Given the description of an element on the screen output the (x, y) to click on. 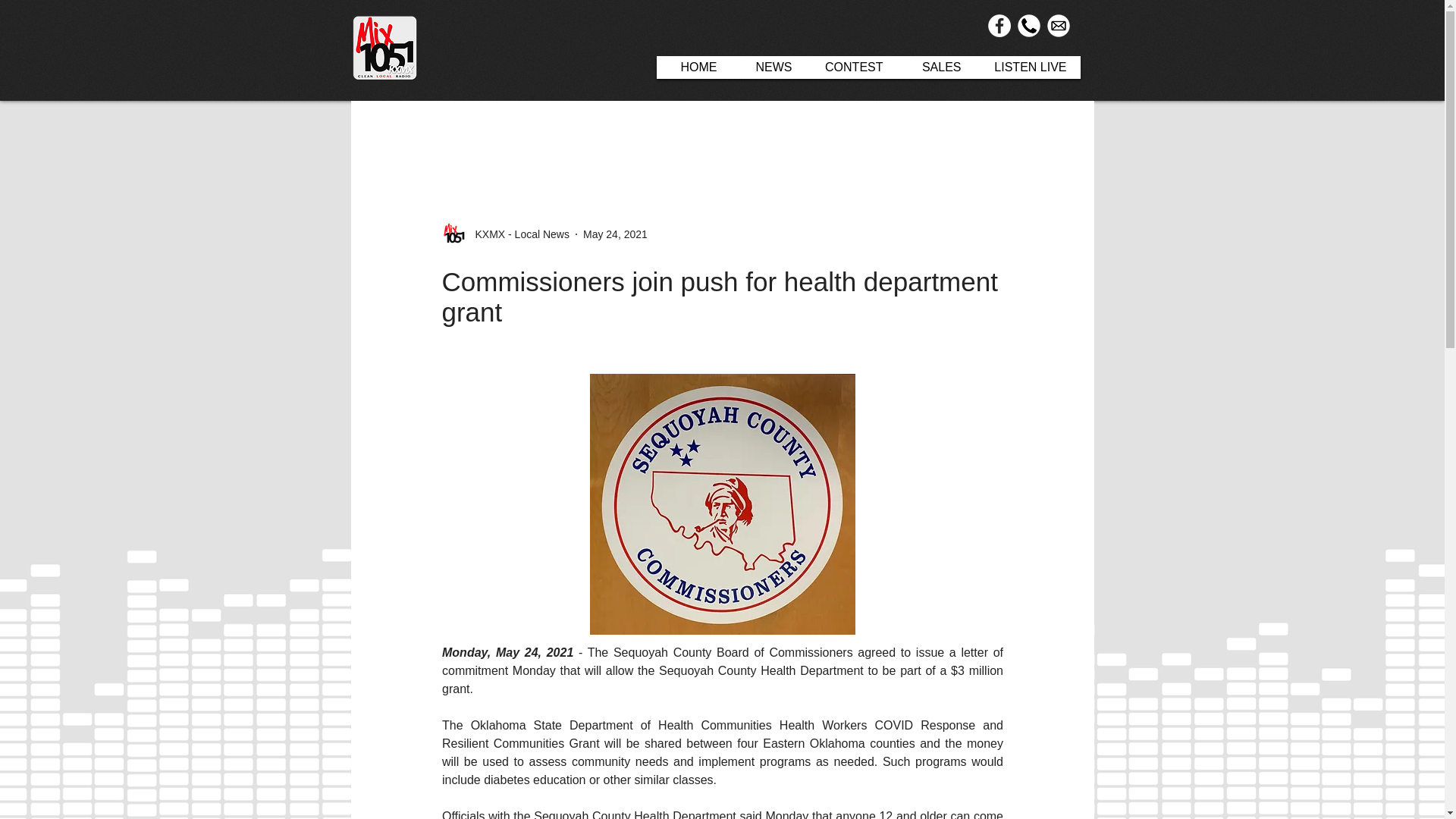
NEWS (768, 67)
SALES (935, 67)
LISTEN LIVE (1027, 67)
HOME (693, 67)
KXMX - Local News (505, 233)
May 24, 2021 (615, 233)
KXMX - Local News (517, 233)
CONTEST (850, 67)
